Given the description of an element on the screen output the (x, y) to click on. 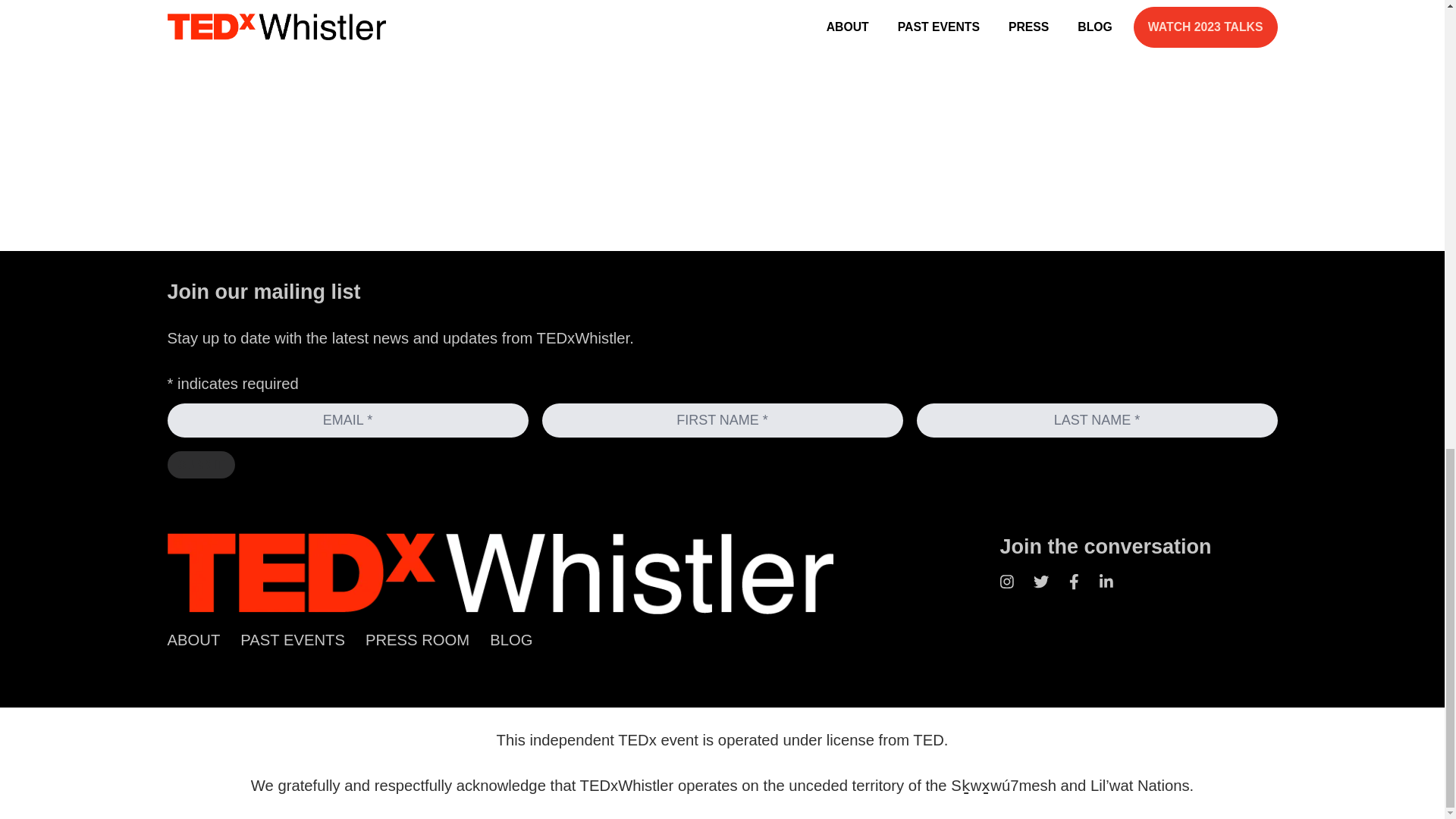
Submit (200, 464)
PRESS ROOM (416, 639)
BLOG (510, 639)
Submit (200, 464)
PAST EVENTS (292, 639)
ABOUT (193, 639)
